Given the description of an element on the screen output the (x, y) to click on. 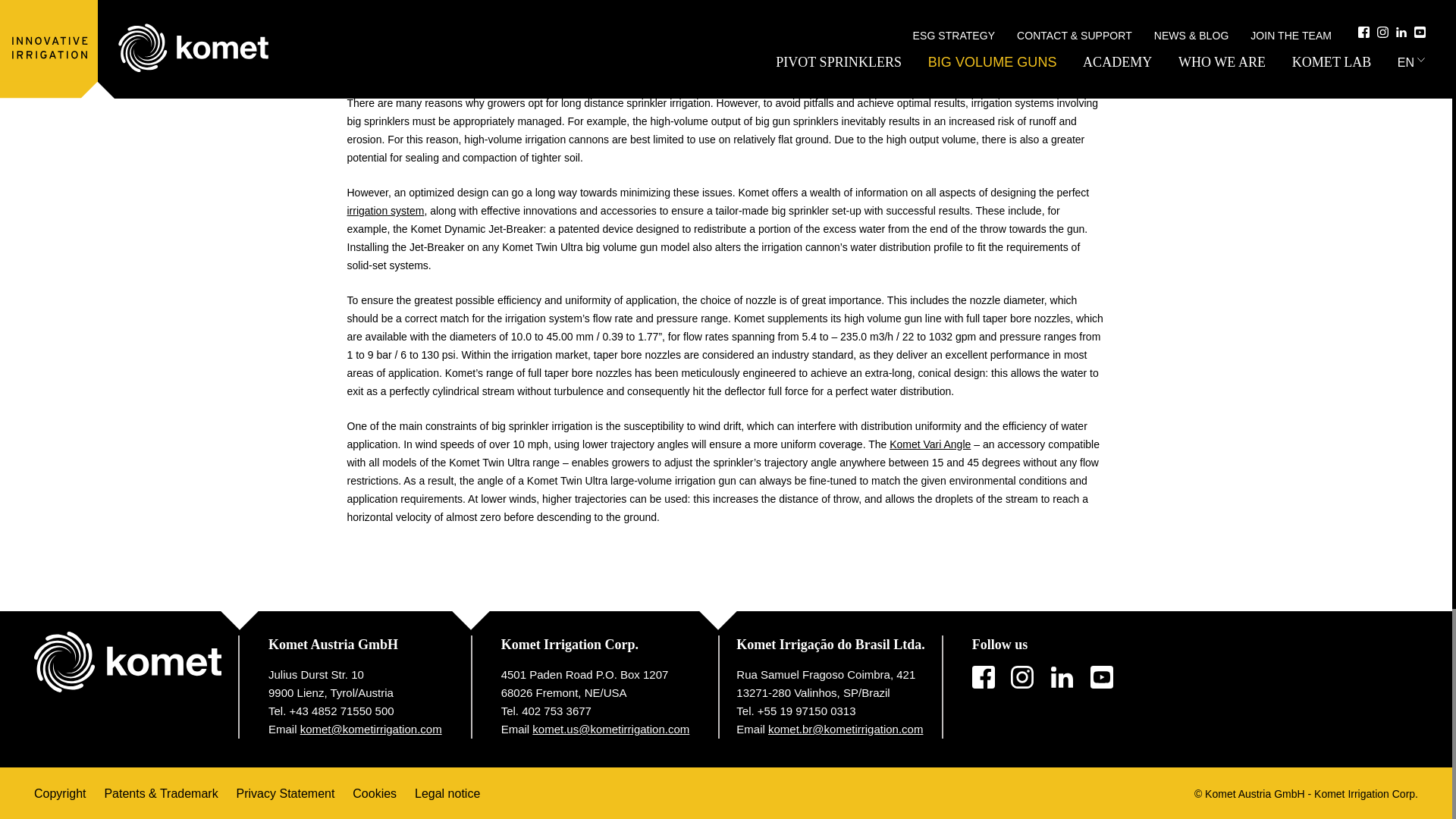
Privacy Statement (284, 793)
Copyright (59, 793)
Komet Vari Angle (930, 444)
Linkedin (1061, 676)
Instagram (1021, 676)
Youtube (1101, 676)
irrigation system (386, 210)
Linkedin (1061, 676)
Facebook (983, 676)
Youtube (1101, 676)
Facebook (983, 676)
Instagram (1021, 676)
